Given the description of an element on the screen output the (x, y) to click on. 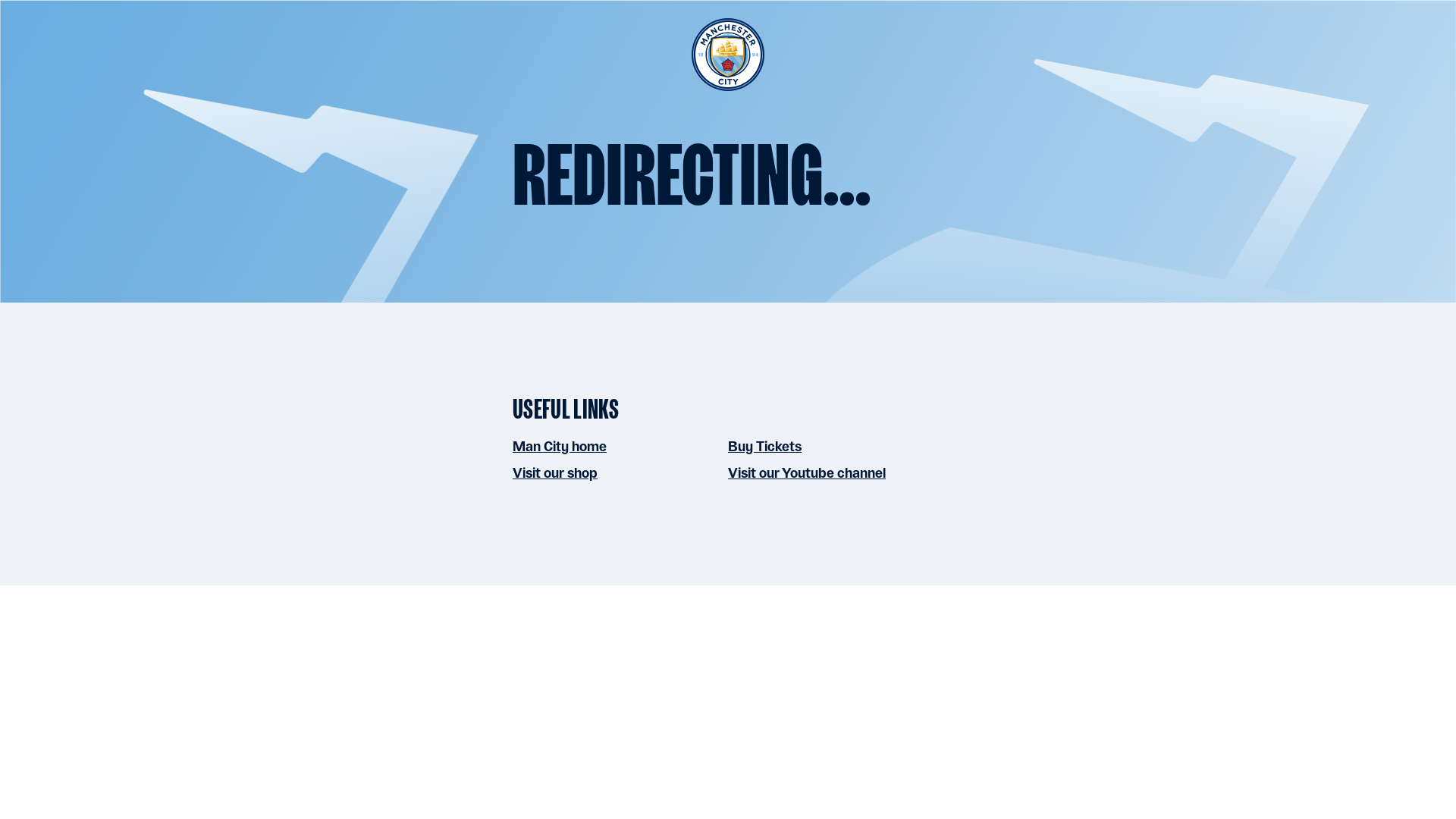
Visit our Youtube channel (806, 472)
Visit our shop (554, 472)
Buy Tickets (765, 445)
Man City home (559, 445)
